Given the description of an element on the screen output the (x, y) to click on. 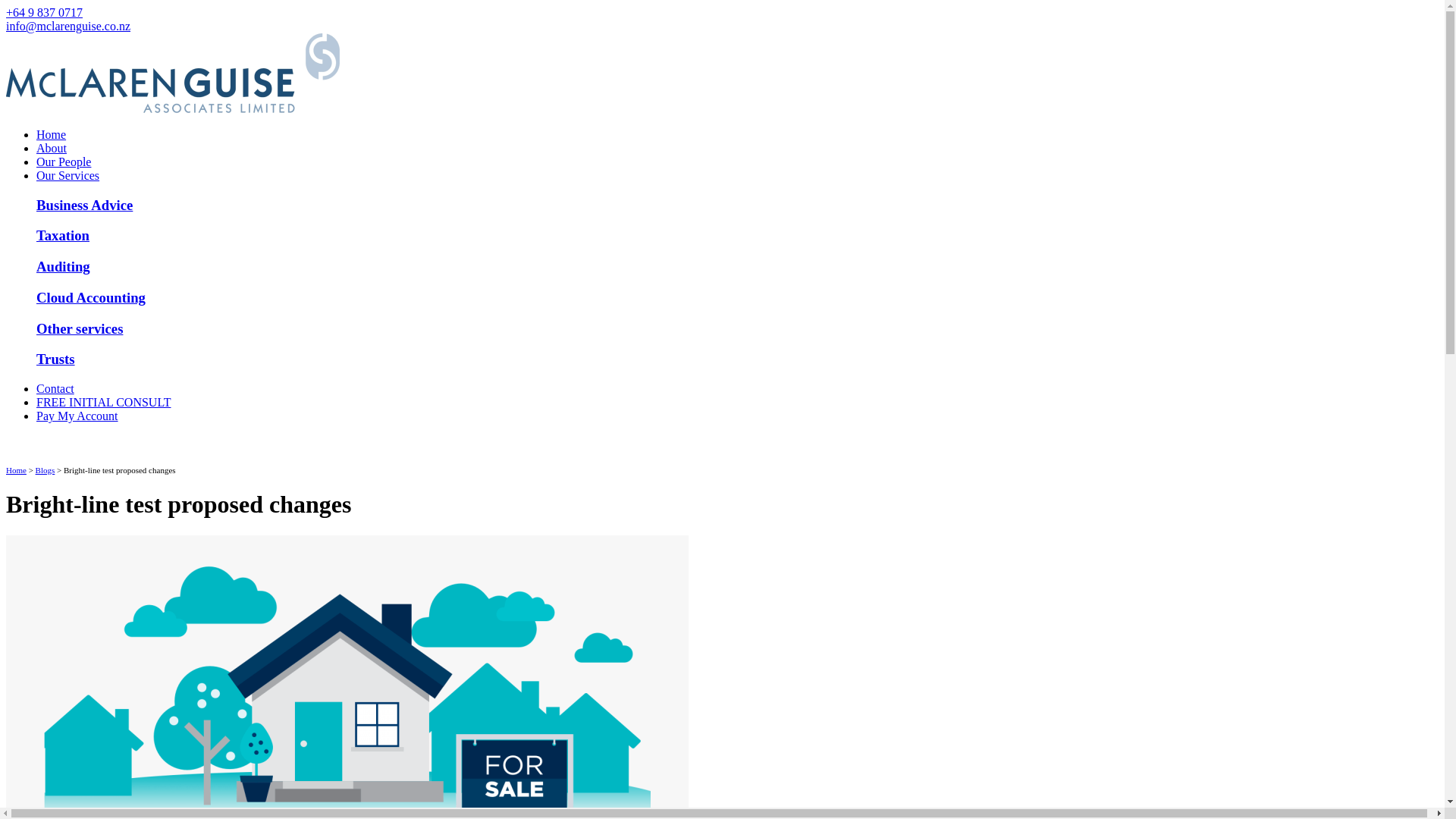
Blogs (44, 470)
Pay My Account (76, 415)
Taxation (62, 235)
Auditing (63, 266)
Other services (79, 328)
Our Services (67, 174)
Trusts (55, 358)
Contact (55, 388)
Business Advice (84, 204)
FREE INITIAL CONSULT (103, 401)
About (51, 147)
Cloud Accounting (90, 297)
Home (50, 133)
Our People (63, 161)
